Given the description of an element on the screen output the (x, y) to click on. 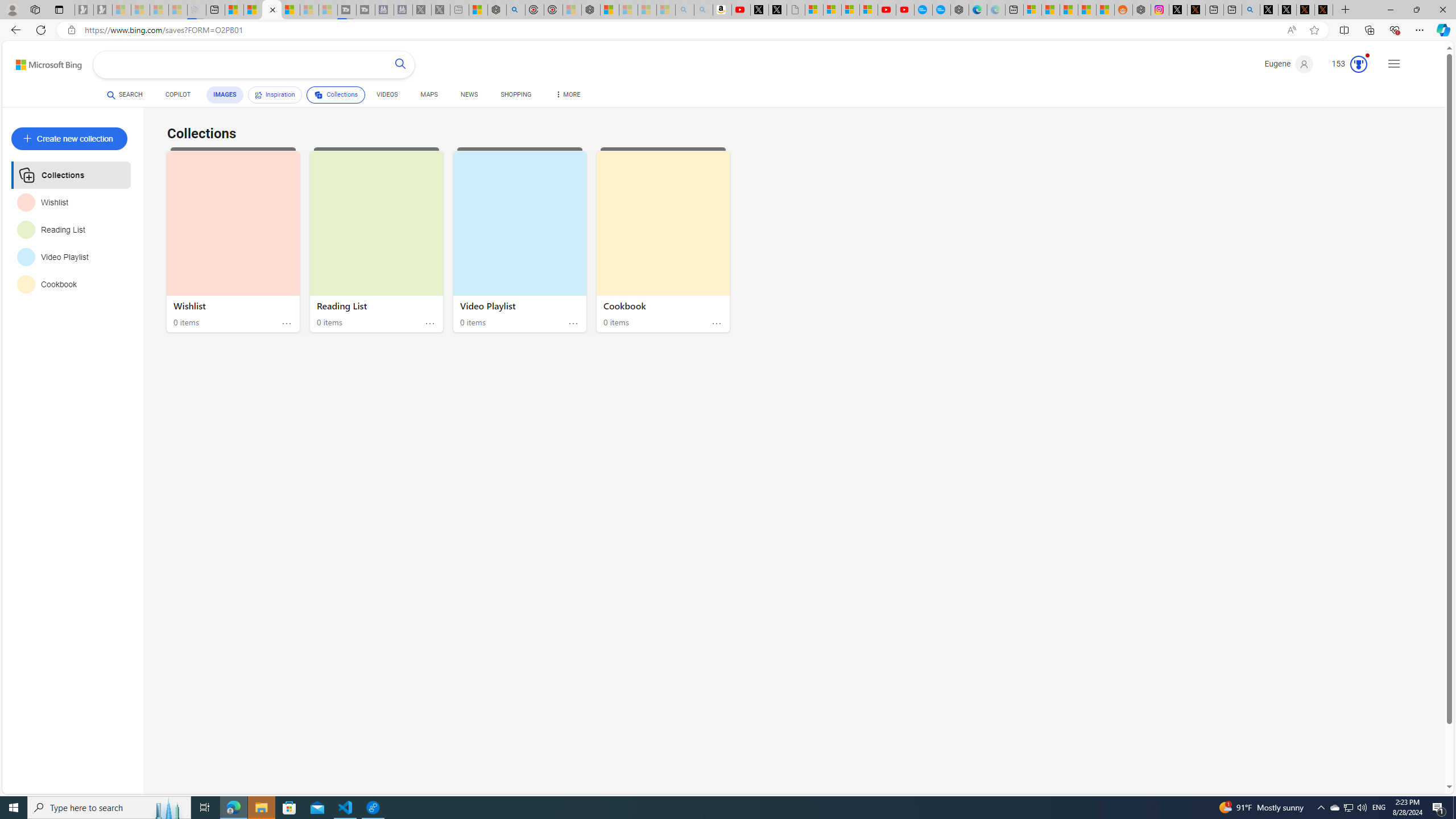
VIDEOS (386, 96)
SHOPPING (515, 94)
Class: b_pri_nav_svg (318, 94)
Create new collection (69, 138)
MORE (567, 96)
COPILOT (178, 96)
